Given the description of an element on the screen output the (x, y) to click on. 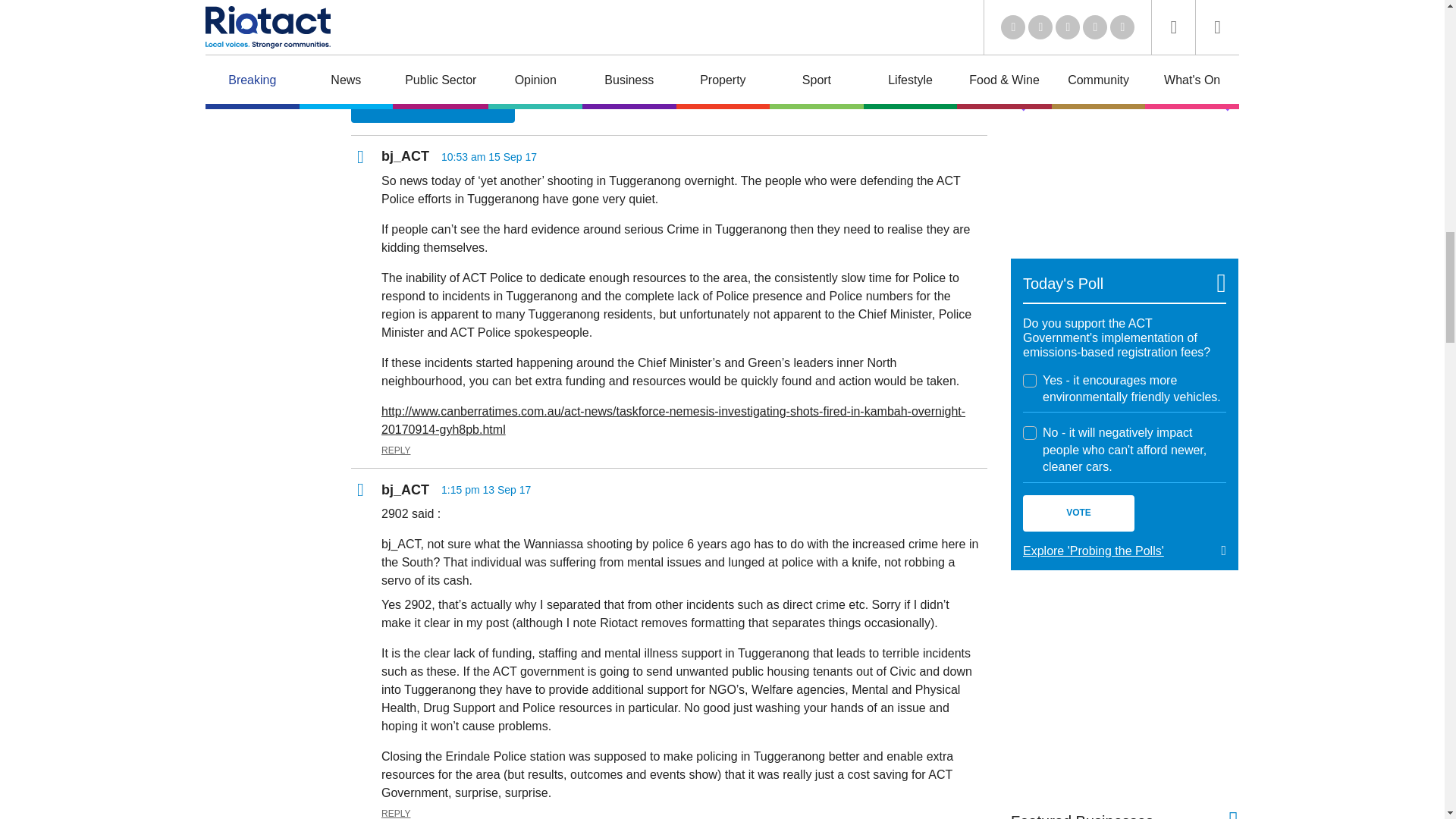
2042 (1029, 432)
Zango Sales (1124, 139)
Zango (1209, 0)
2041 (1029, 380)
   Vote    (1078, 513)
3rd party ad content (1124, 688)
